Given the description of an element on the screen output the (x, y) to click on. 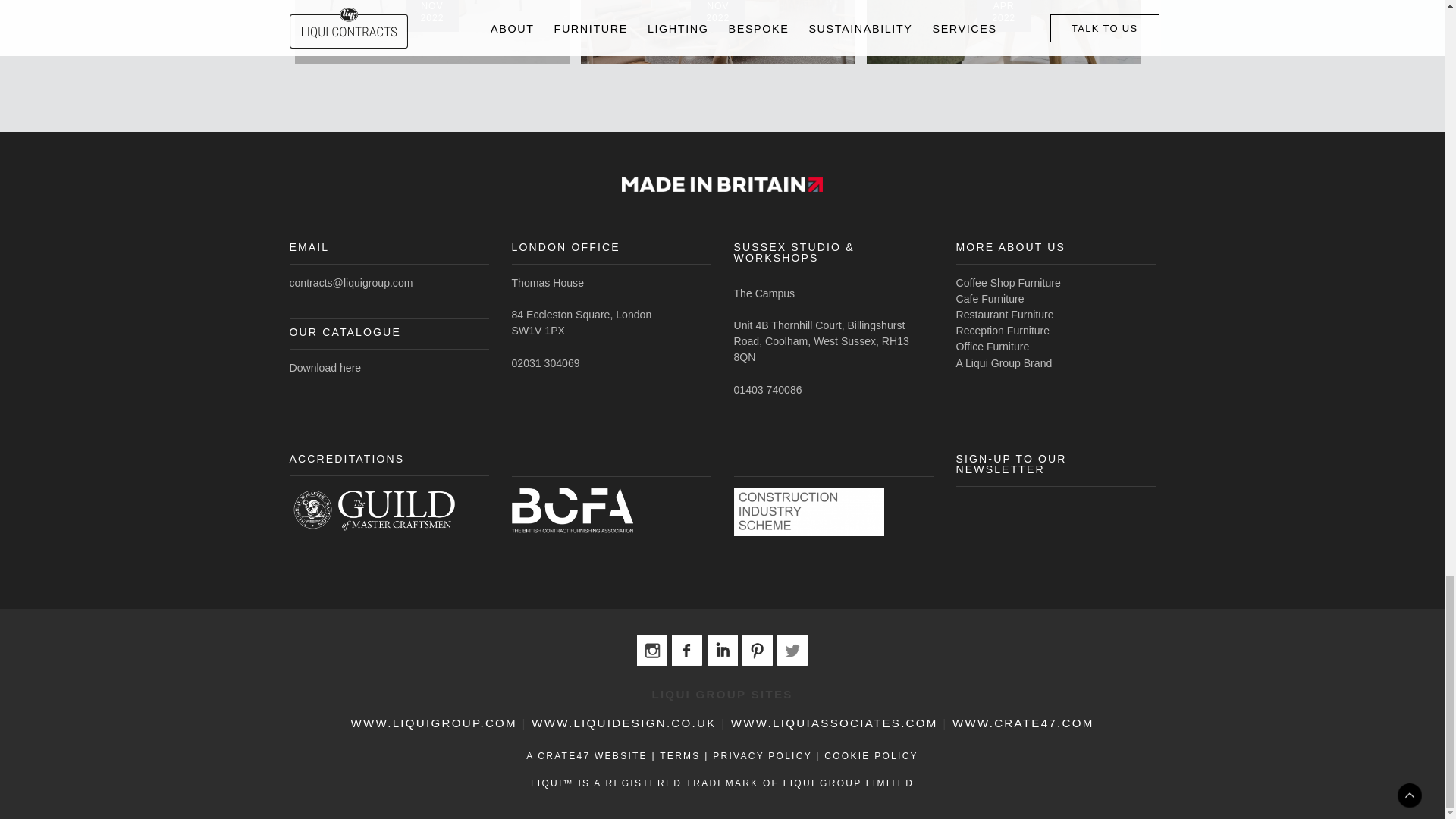
Download here (325, 367)
WWW.LIQUIDESIGN.CO.UK (625, 722)
COOKIE POLICY (871, 756)
Coffee Shop Furniture (1007, 282)
WWW.LIQUIASSOCIATES.COM (836, 722)
A Liqui Group Brand (1003, 362)
Reception Furniture (1002, 330)
Restaurant Furniture (1003, 314)
WWW.LIQUIGROUP.COM (433, 722)
Cafe Furniture (989, 298)
Office Furniture (992, 346)
WWW.CRATE47.COM (1023, 722)
